Given the description of an element on the screen output the (x, y) to click on. 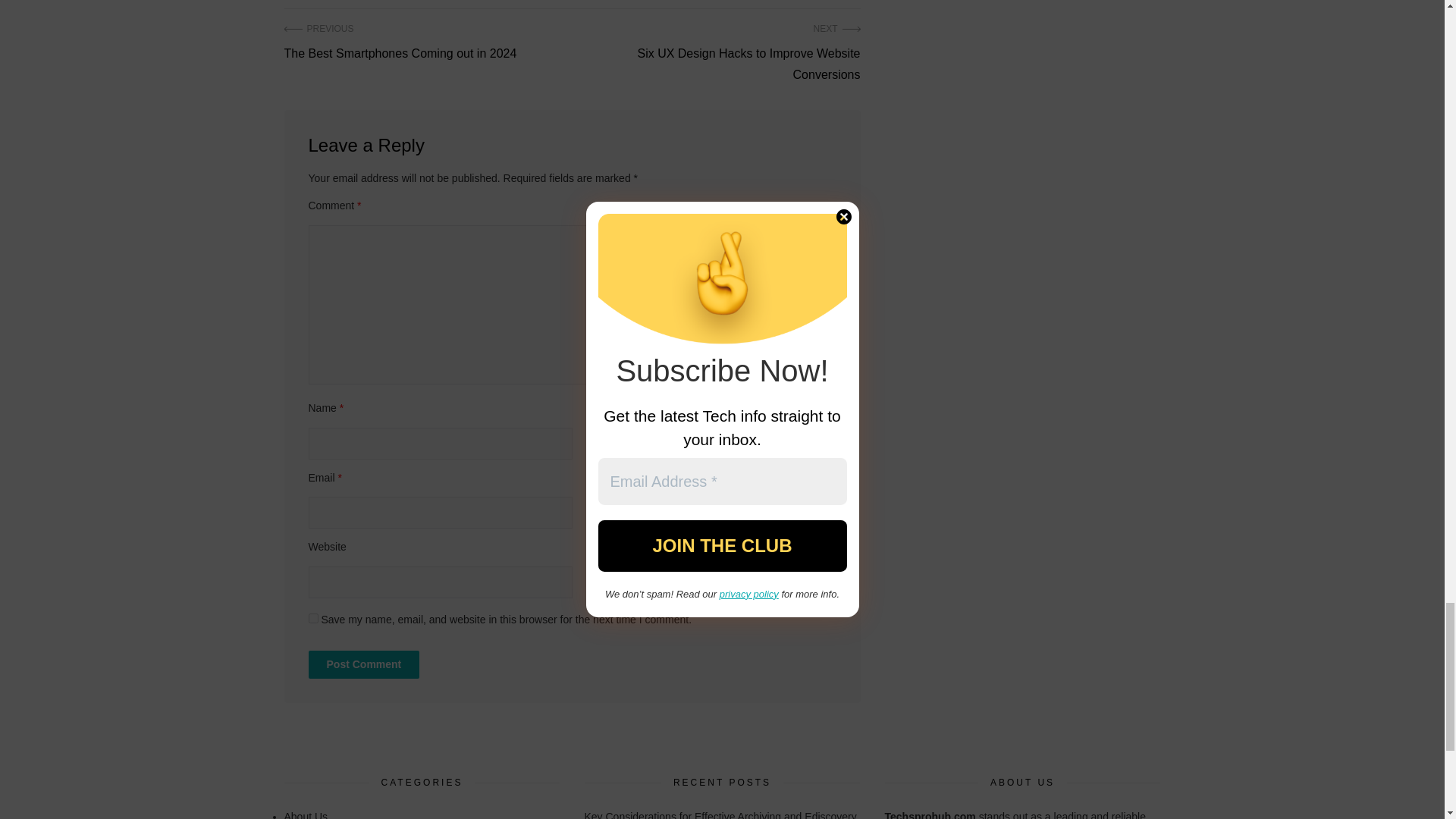
yes (312, 618)
Post Comment (363, 664)
